Given the description of an element on the screen output the (x, y) to click on. 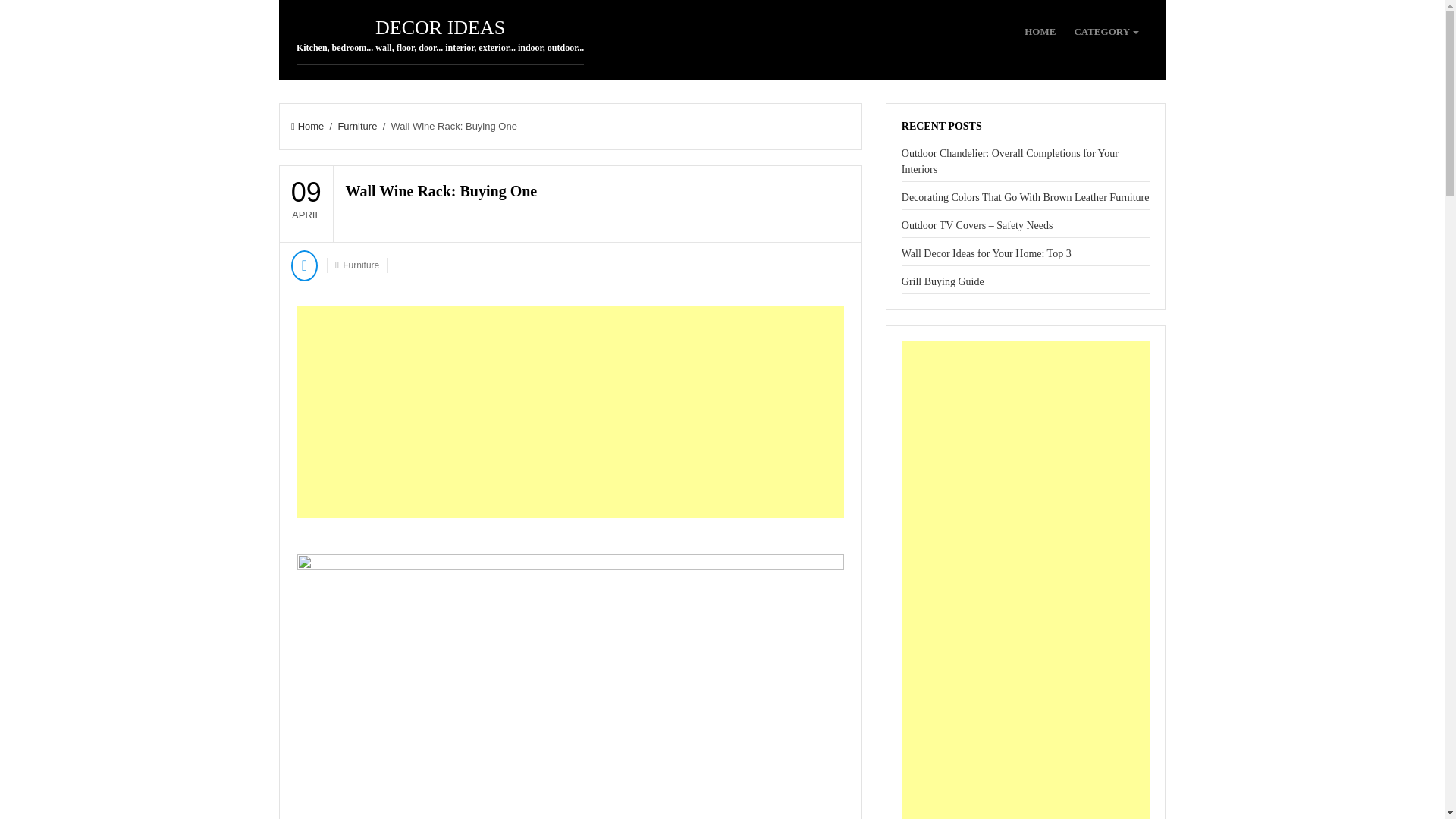
HOME (1040, 31)
Furniture (360, 265)
Wall Decor Ideas for Your Home: Top 3 (986, 253)
Outdoor Chandelier: Overall Completions for Your Interiors (1009, 161)
Home (307, 125)
CATEGORY (1106, 31)
Decorating Colors That Go With Brown Leather Furniture (1025, 197)
DECOR IDEAS (440, 27)
Grill Buying Guide (942, 281)
Furniture (357, 125)
